Given the description of an element on the screen output the (x, y) to click on. 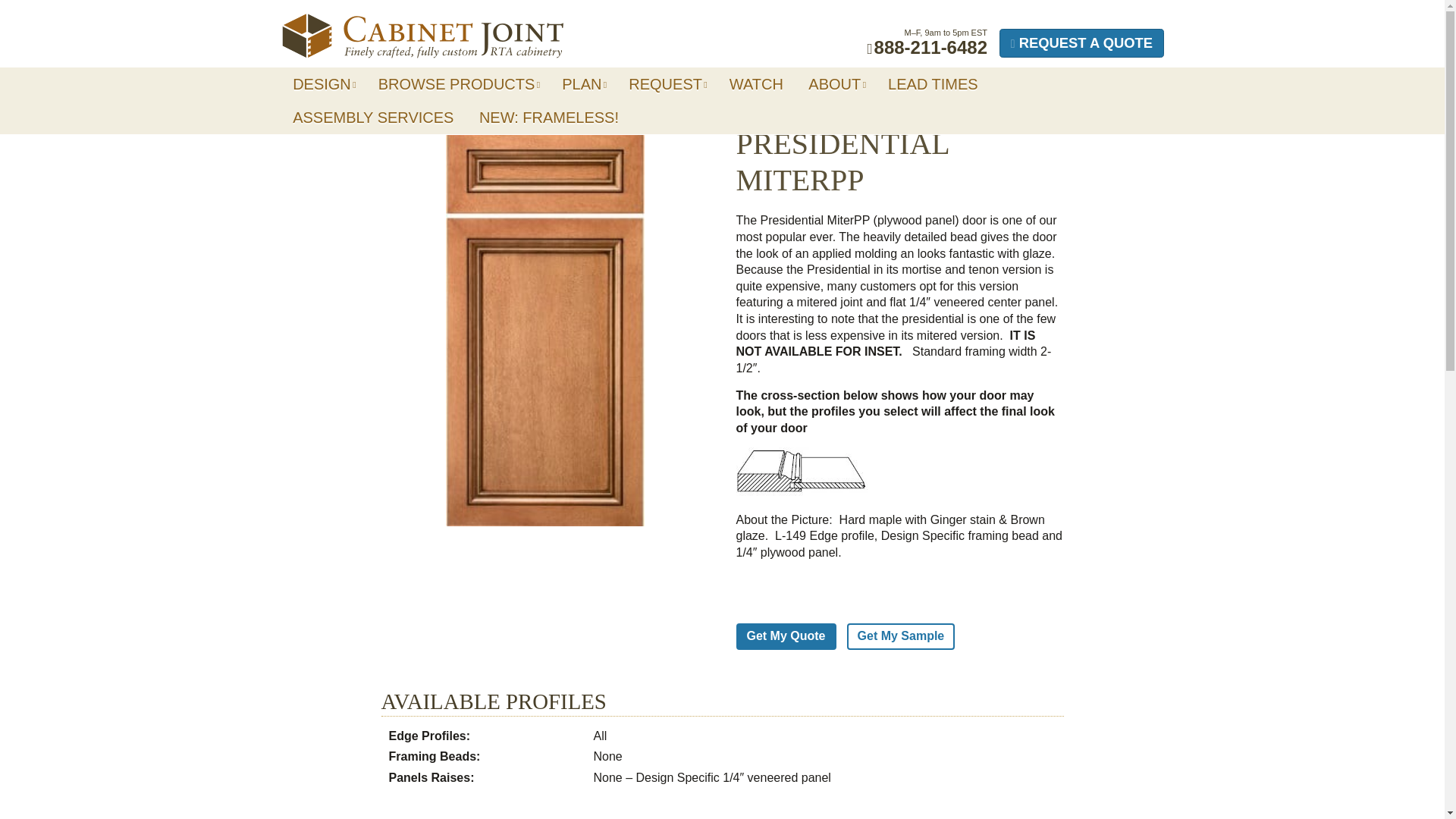
BROWSE PRODUCTS (457, 83)
888-211-6482 (926, 46)
DESIGN (323, 83)
REQUEST A QUOTE (1080, 42)
Cabinet Joint (422, 36)
